Given the description of an element on the screen output the (x, y) to click on. 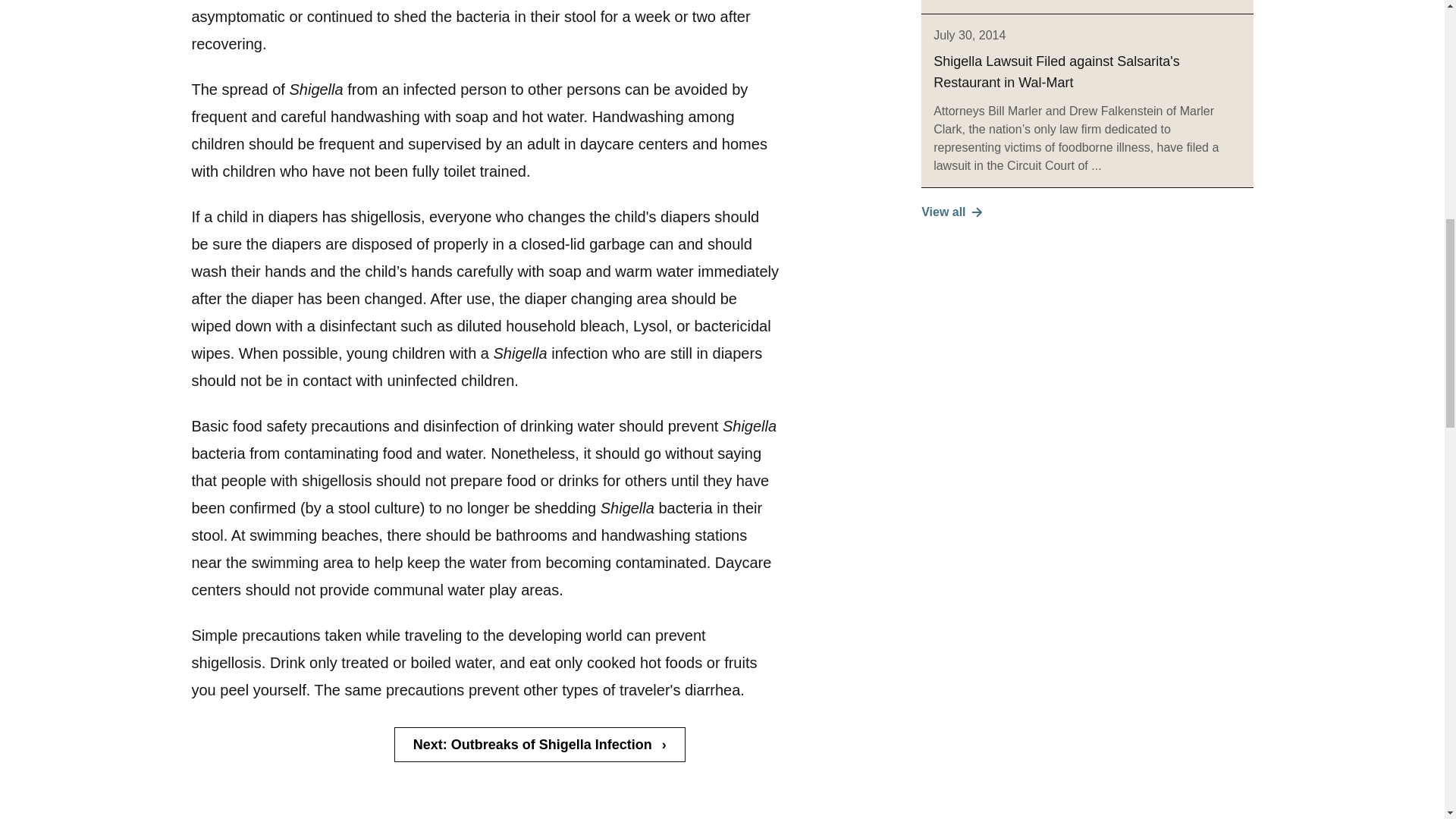
View all (1086, 212)
